Given the description of an element on the screen output the (x, y) to click on. 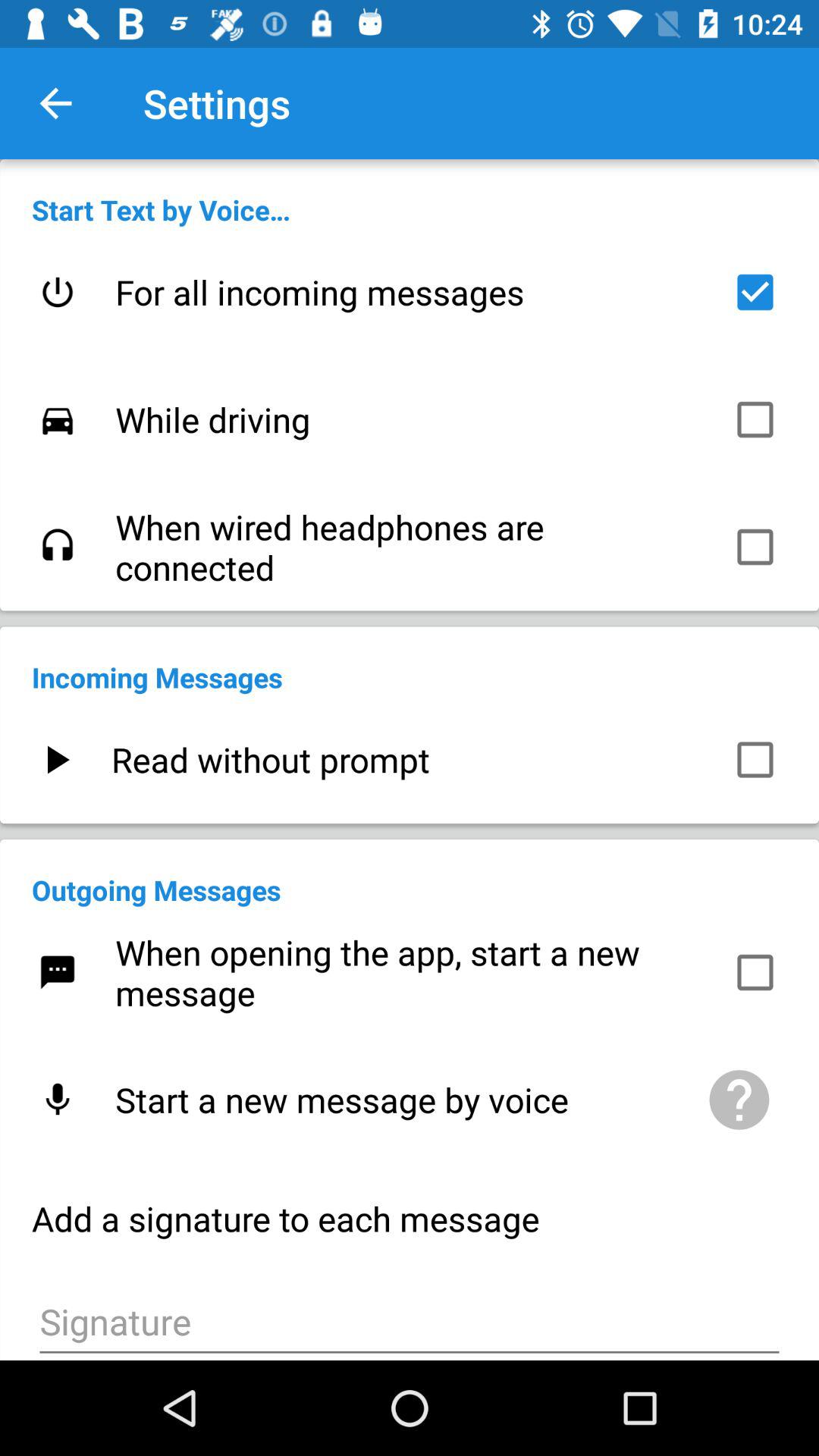
click item to the left of settings (55, 103)
